Given the description of an element on the screen output the (x, y) to click on. 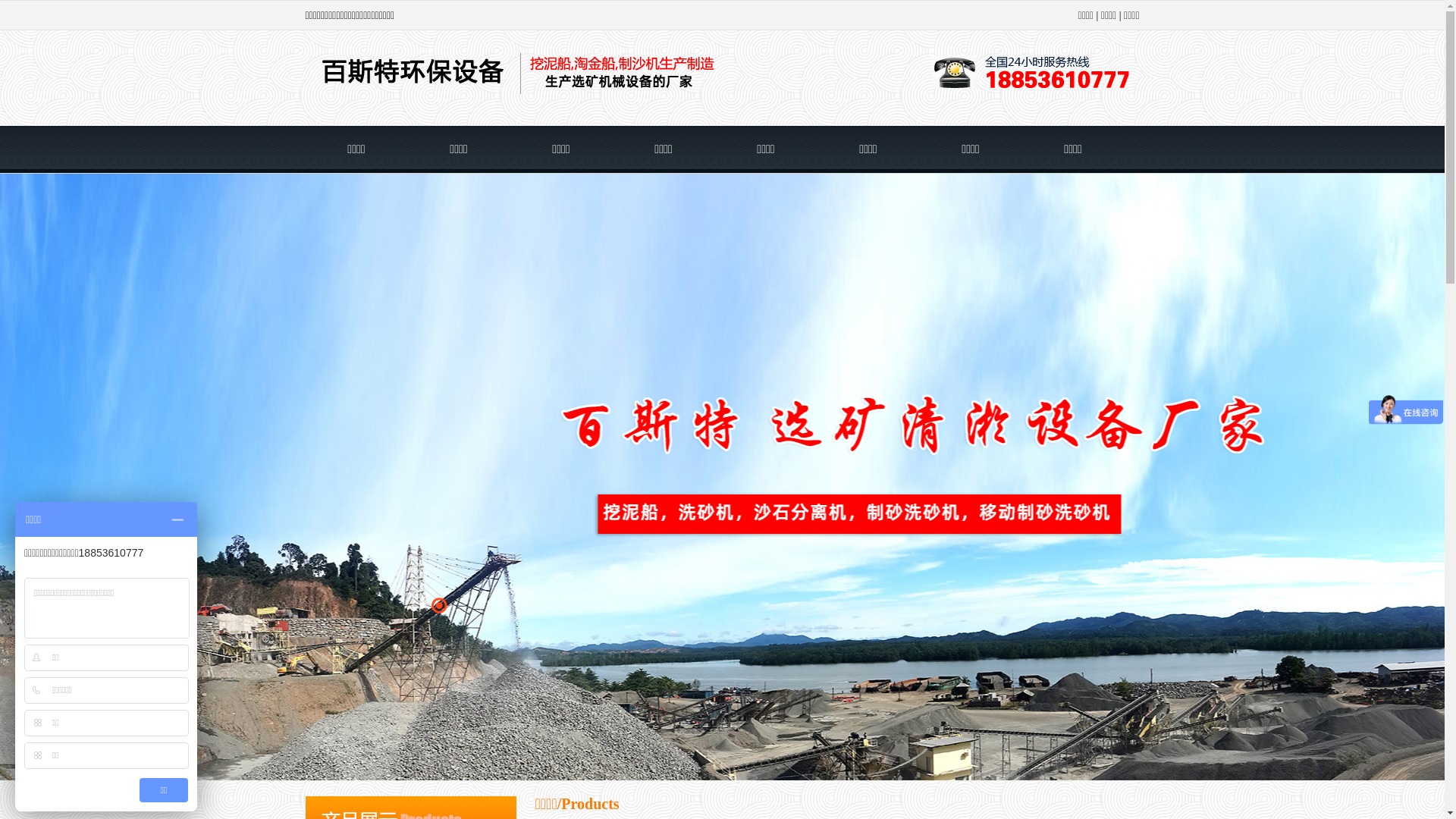
1 Element type: text (423, 605)
2 Element type: text (438, 605)
